Given the description of an element on the screen output the (x, y) to click on. 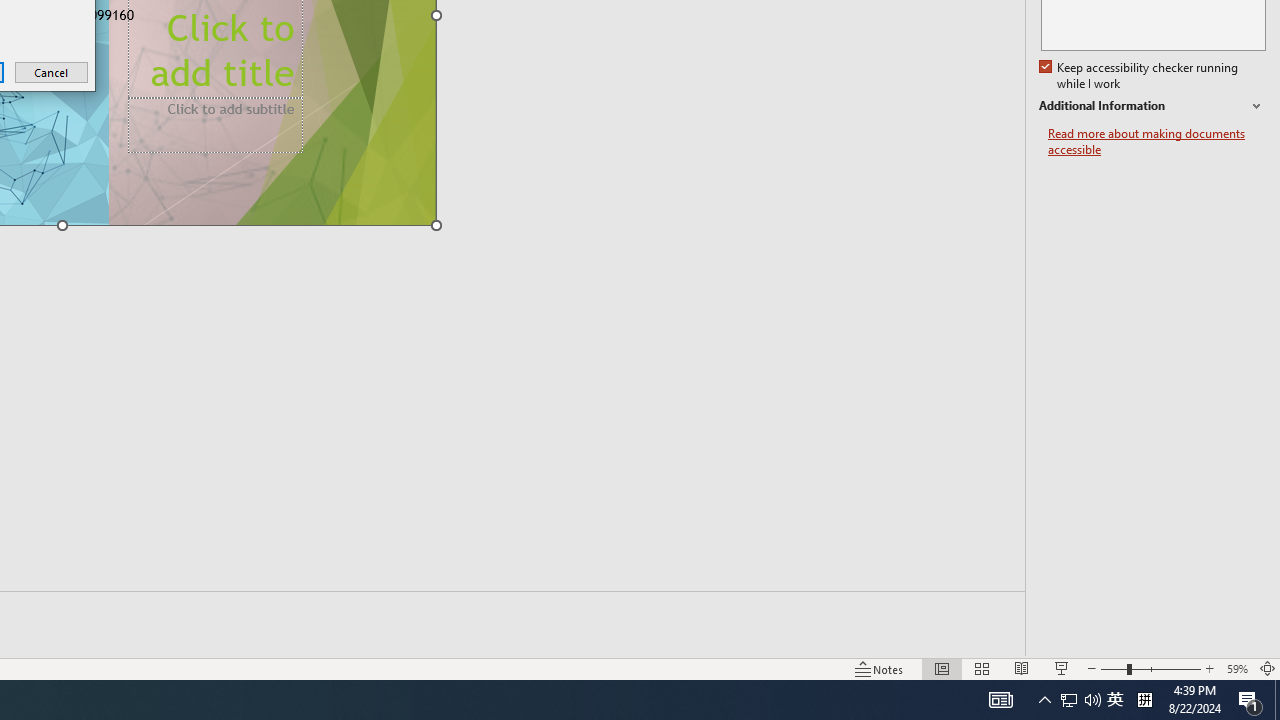
Q2790: 100% (1069, 699)
Action Center, 1 new notification (1092, 699)
Cancel (1250, 699)
User Promoted Notification Area (51, 72)
Tray Input Indicator - Chinese (Simplified, China) (1080, 699)
AutomationID: 4105 (1144, 699)
Additional Information (1000, 699)
Notification Chevron (1152, 106)
Keep accessibility checker running while I work (1115, 699)
